Given the description of an element on the screen output the (x, y) to click on. 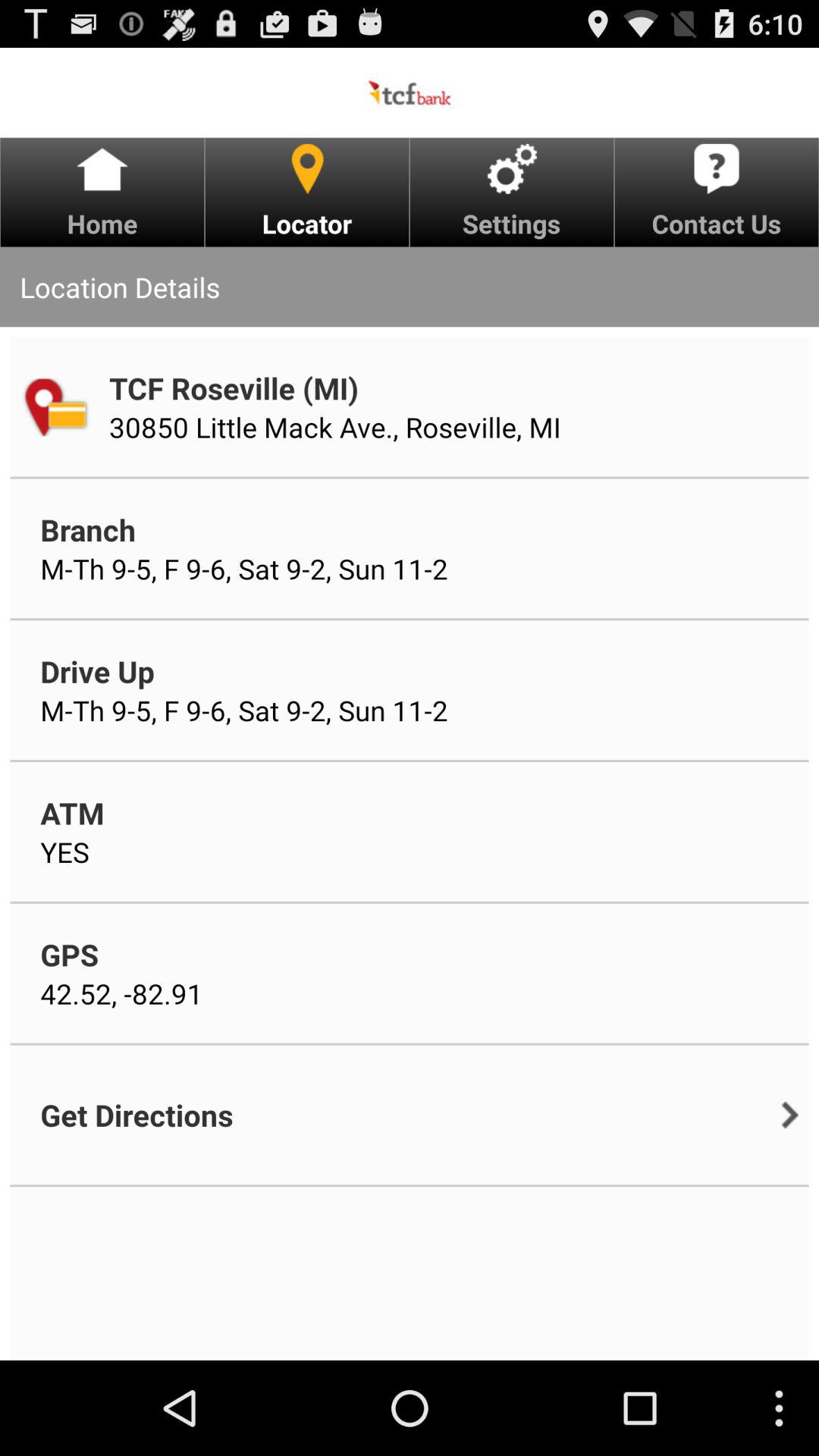
tap app below the location details icon (54, 406)
